Given the description of an element on the screen output the (x, y) to click on. 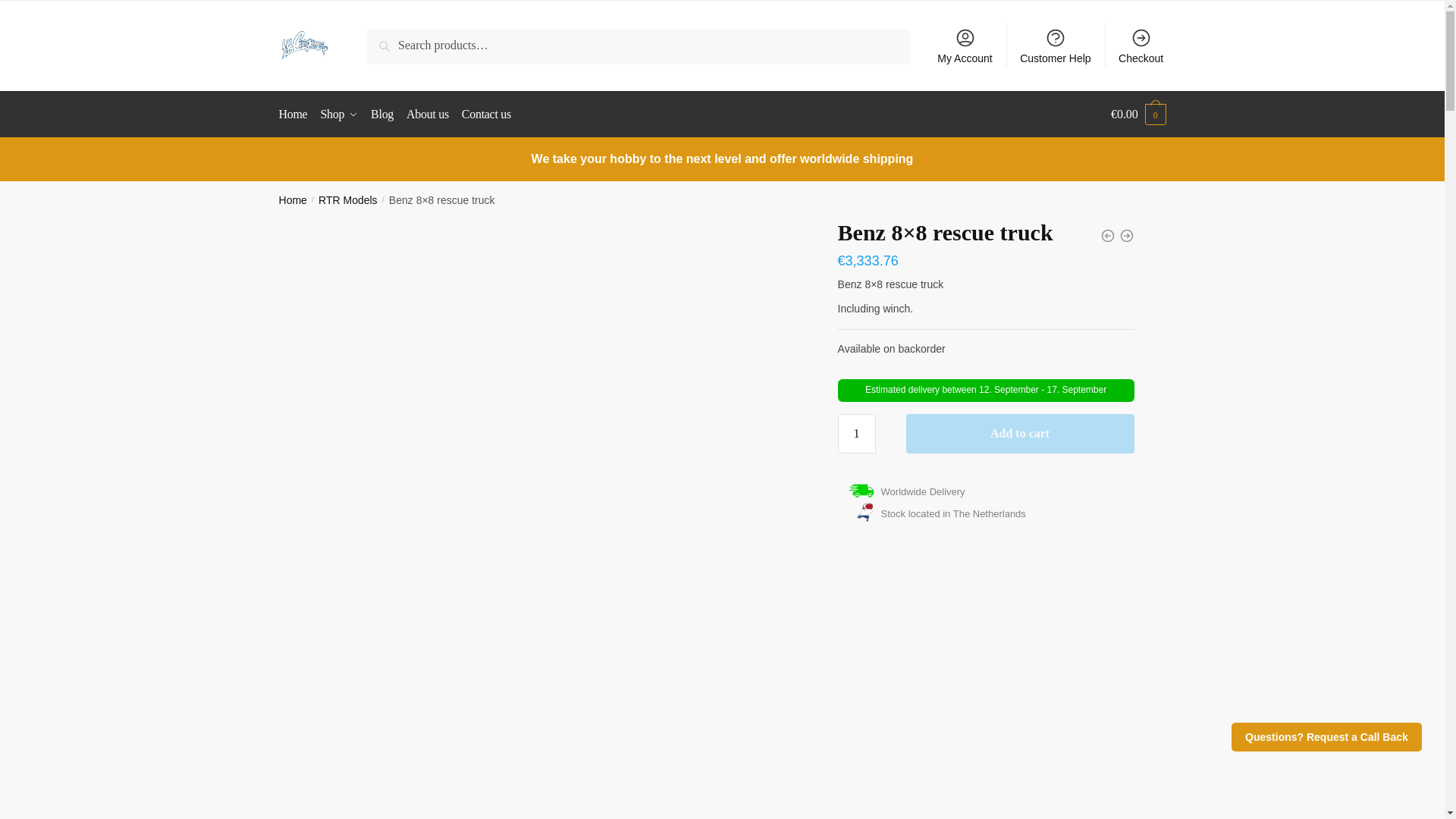
My Account (964, 45)
Search (401, 45)
Contact us (485, 114)
Checkout (1141, 45)
Customer Help (1055, 45)
About us (427, 114)
Shop (339, 114)
RTR Models (347, 200)
View your shopping cart (1138, 114)
Home (293, 200)
1 (857, 433)
